Given the description of an element on the screen output the (x, y) to click on. 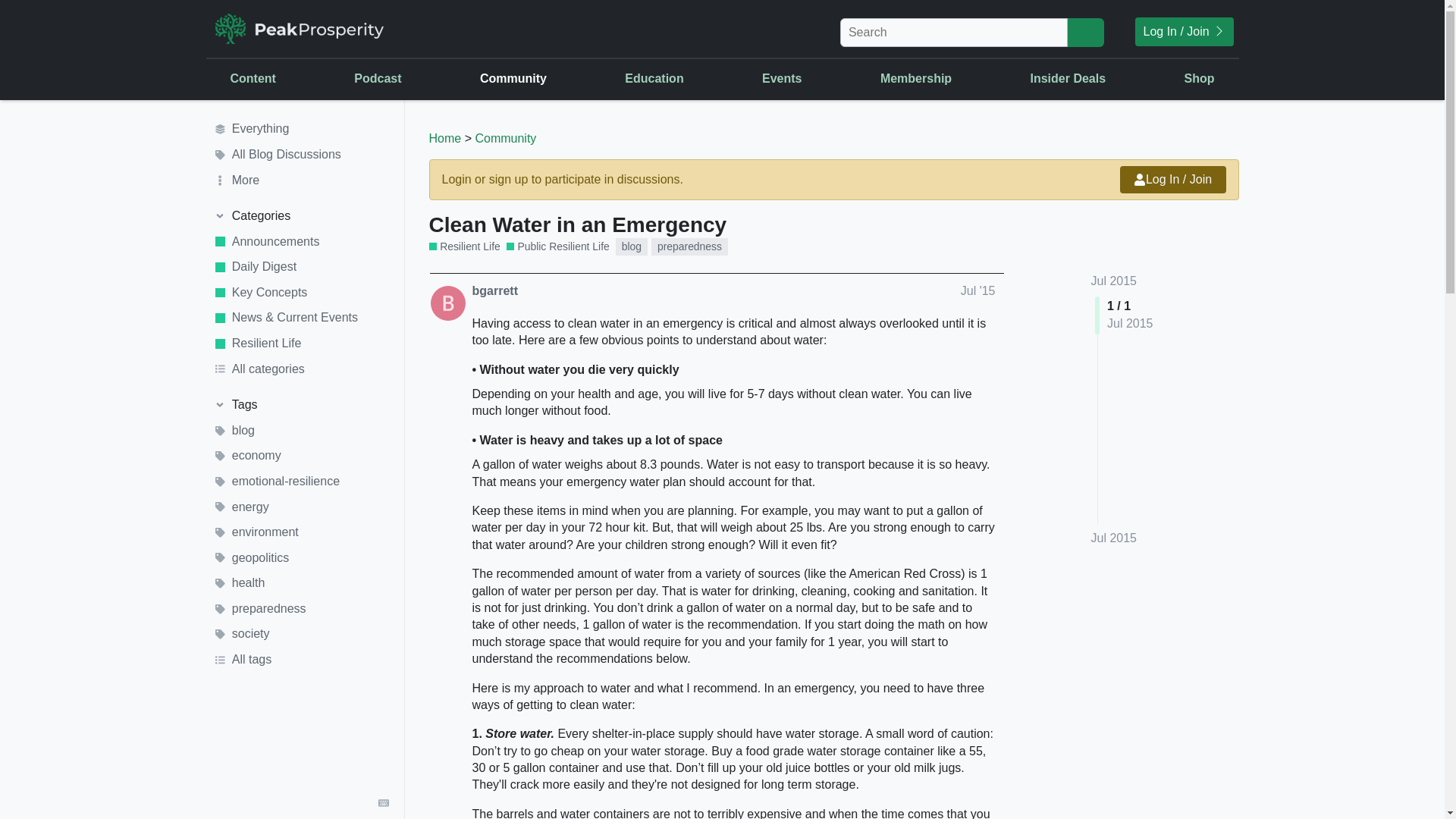
blog (631, 246)
Home (445, 137)
environment (301, 533)
Podcast (377, 78)
Forum (638, 178)
All categories (301, 369)
health (301, 583)
Announcements (301, 241)
Tags (301, 404)
emotional-resilience (301, 481)
economy (301, 456)
preparedness (301, 608)
Everything (301, 129)
preparedness (689, 246)
All Content (388, 265)
